Given the description of an element on the screen output the (x, y) to click on. 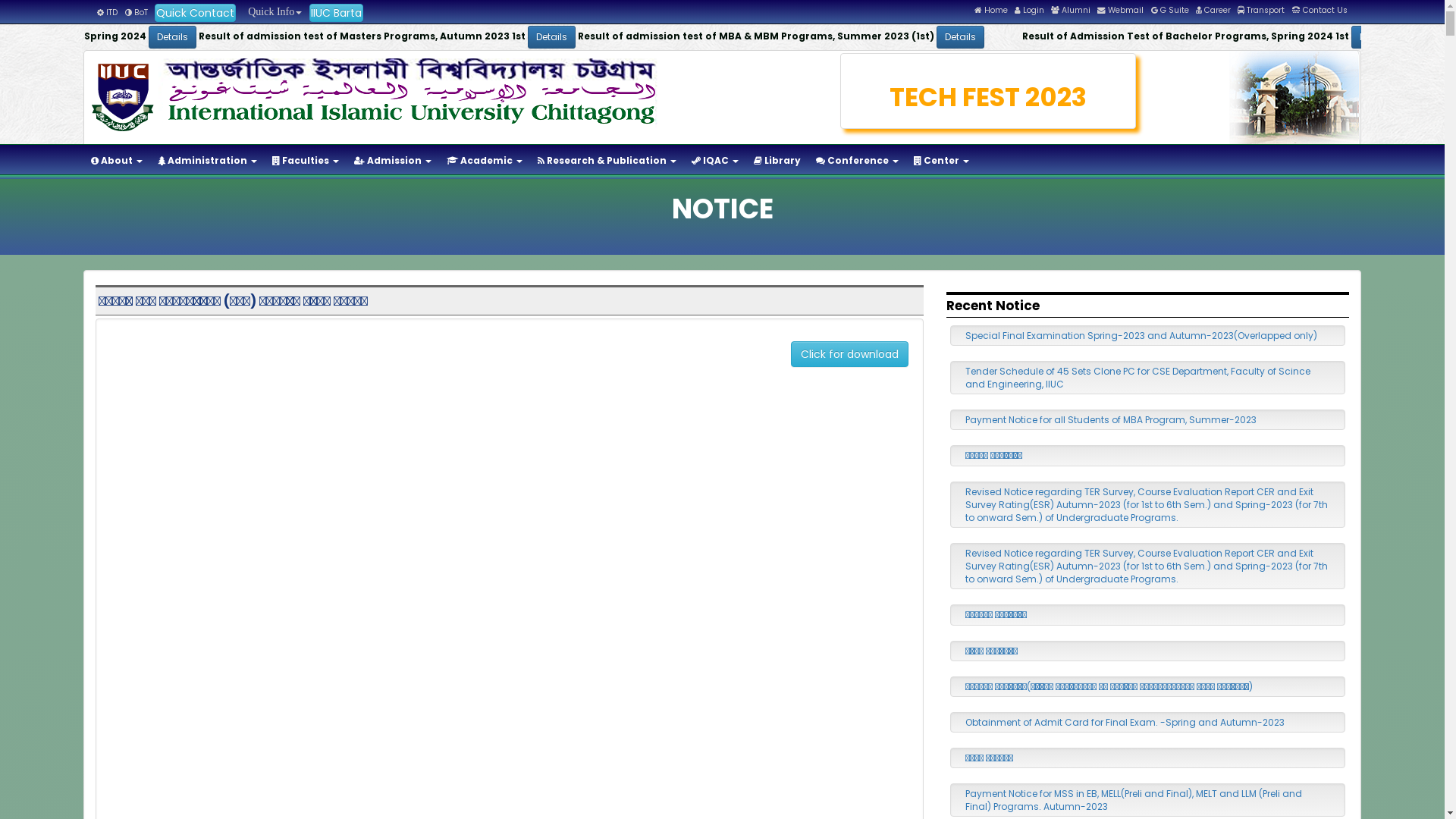
Research & Publication Element type: text (607, 160)
Admission Element type: text (392, 160)
Center Element type: text (941, 160)
Transport Element type: text (1260, 9)
BoT Element type: text (136, 12)
Career Element type: text (1212, 9)
Details Element type: text (1261, 36)
Details Element type: text (860, 36)
TECH FEST 2023 Element type: text (988, 97)
IQAC Element type: text (715, 160)
Administration Element type: text (207, 160)
Library Element type: text (777, 160)
Quick Contact Element type: text (194, 12)
Conference Element type: text (857, 160)
Academic Element type: text (484, 160)
Details Element type: text (462, 36)
ITD Element type: text (107, 12)
Contact Us Element type: text (1319, 9)
Webmail Element type: text (1120, 9)
Payment Notice for all Students of MBA Program, Summer-2023 Element type: text (1110, 419)
Login Element type: text (1029, 9)
Alumni Element type: text (1070, 9)
G Suite Element type: text (1170, 9)
IIUC Barta Element type: text (336, 12)
Click for download Element type: text (849, 354)
About Element type: text (116, 160)
  Quick Info Element type: text (271, 11)
Faculties Element type: text (305, 160)
Home Element type: text (990, 9)
